Given the description of an element on the screen output the (x, y) to click on. 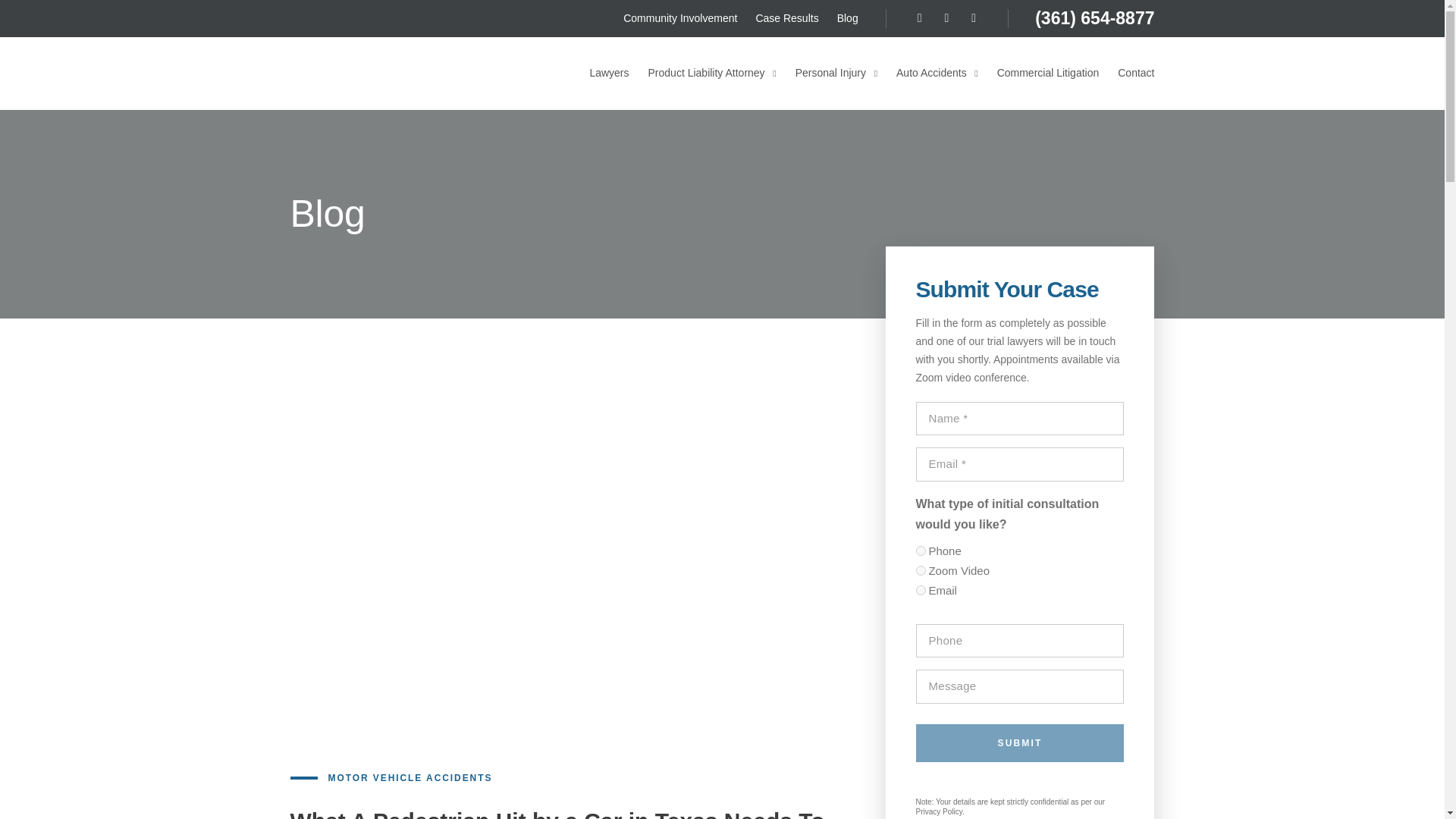
John Flood Trial Lawyers (370, 73)
Zoom Video (920, 570)
Product Liability Attorney (711, 72)
Community Involvement (679, 18)
Personal Injury (835, 72)
654-8877 (1114, 17)
Commercial Litigation (1048, 72)
Blog (848, 18)
Case Results (786, 18)
Submit (1019, 742)
Email (920, 590)
Phone (920, 551)
Auto Accidents (937, 72)
